Given the description of an element on the screen output the (x, y) to click on. 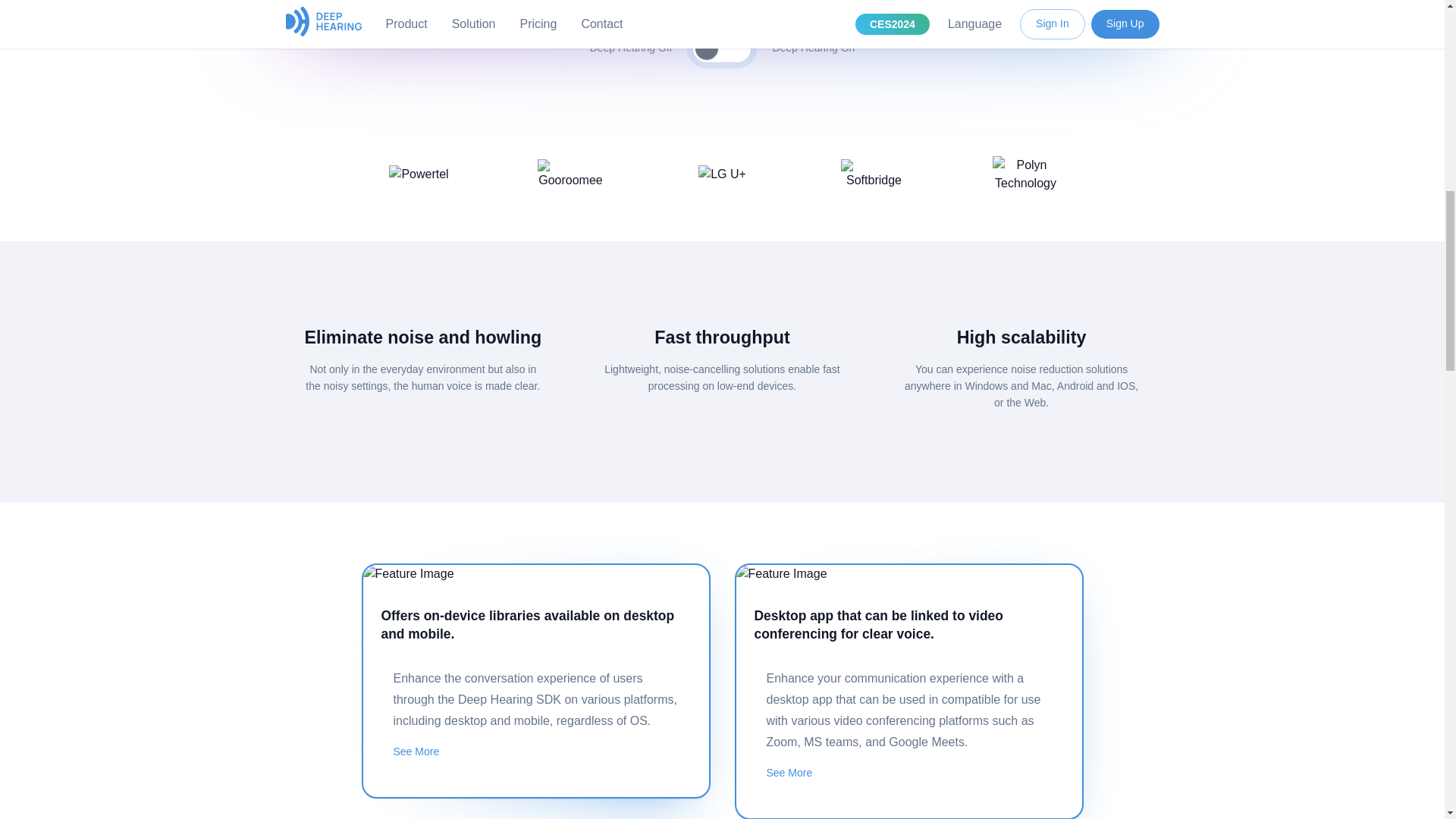
See More (908, 773)
See More (535, 751)
